Given the description of an element on the screen output the (x, y) to click on. 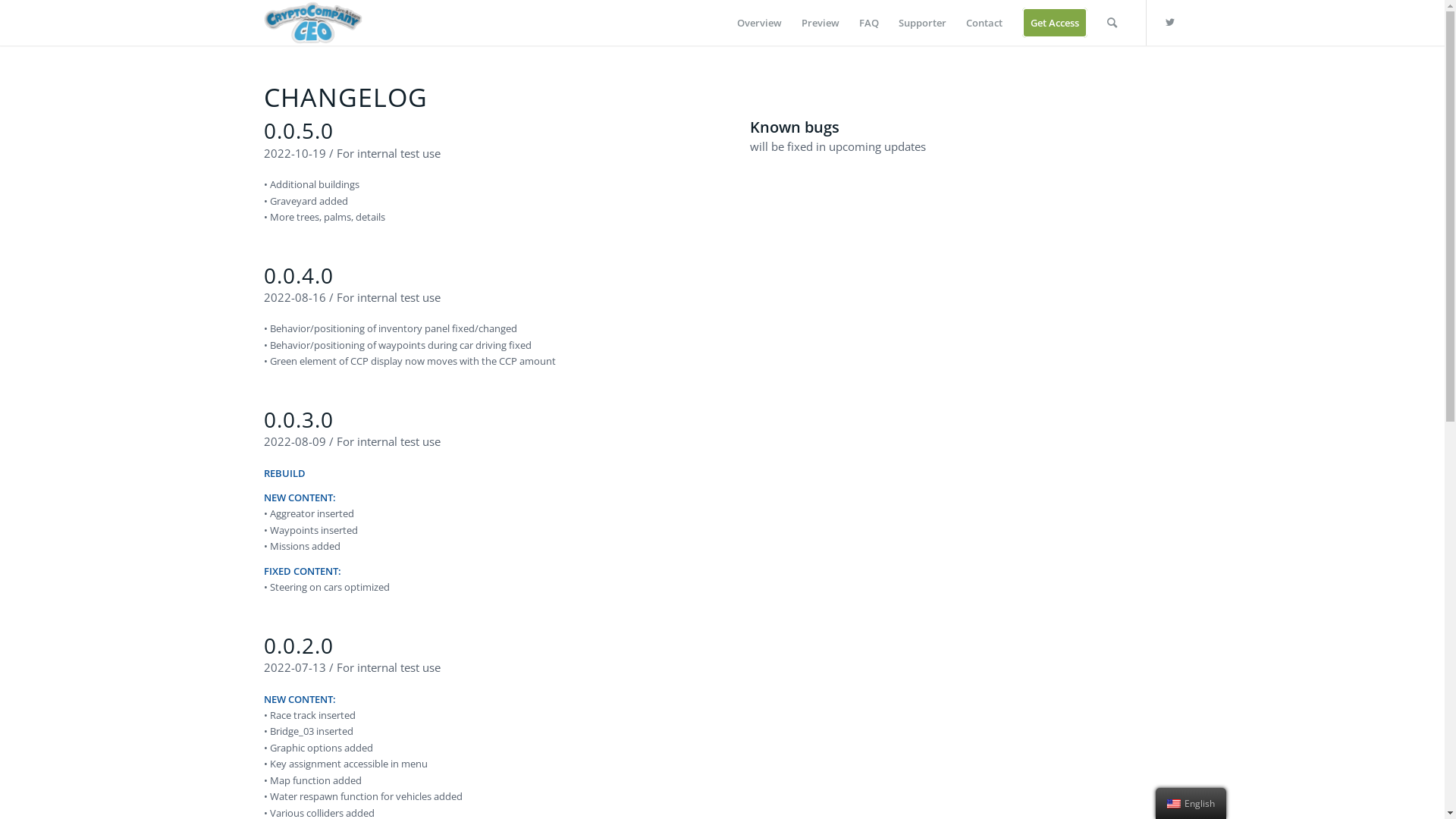
Get Access Element type: text (1053, 22)
our timeline Element type: text (521, 544)
on our blog Element type: text (1063, 542)
Contact Element type: text (983, 22)
Overview Element type: text (758, 22)
Buy SQM Element type: text (1046, 672)
Discord Element type: text (280, 503)
CCPower explanation Element type: hover (559, 673)
Twitter Element type: hover (1169, 21)
Supporter Element type: text (922, 22)
Preview Element type: text (820, 22)
CCPower Element type: text (1046, 489)
@PowerPaul Element type: text (577, 487)
email Element type: text (339, 503)
FAQ Element type: text (868, 22)
Hive Element type: text (701, 487)
Visit our Blog Element type: text (1046, 734)
Buy CCD Element type: text (1046, 611)
English Element type: hover (1173, 803)
@PowerPaul Element type: text (727, 807)
read here Element type: text (844, 522)
